Given the description of an element on the screen output the (x, y) to click on. 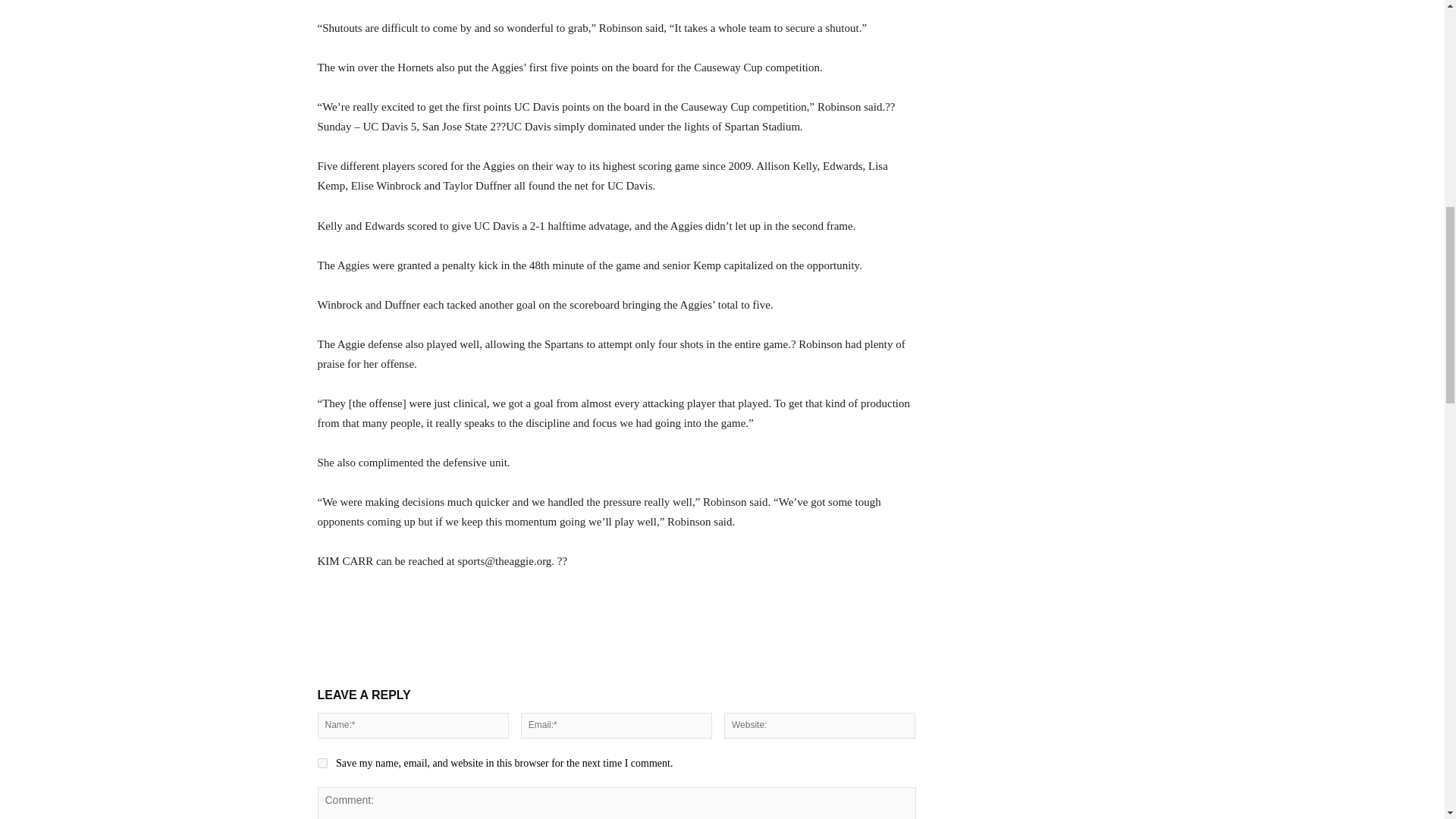
yes (321, 763)
